Given the description of an element on the screen output the (x, y) to click on. 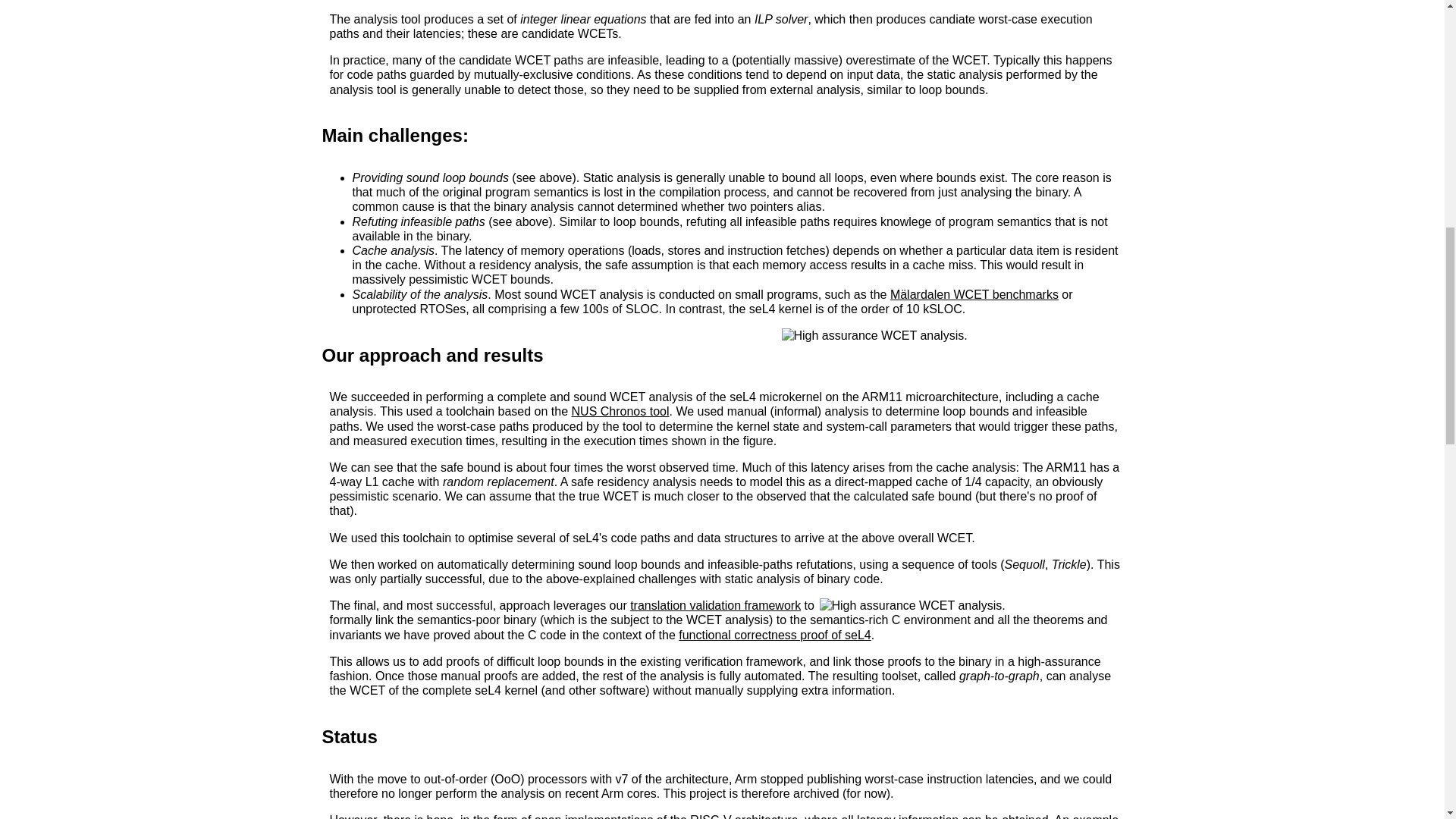
NUS Chronos tool (620, 410)
functional correctness proof of seL4 (774, 634)
translation validation framework (715, 604)
